Given the description of an element on the screen output the (x, y) to click on. 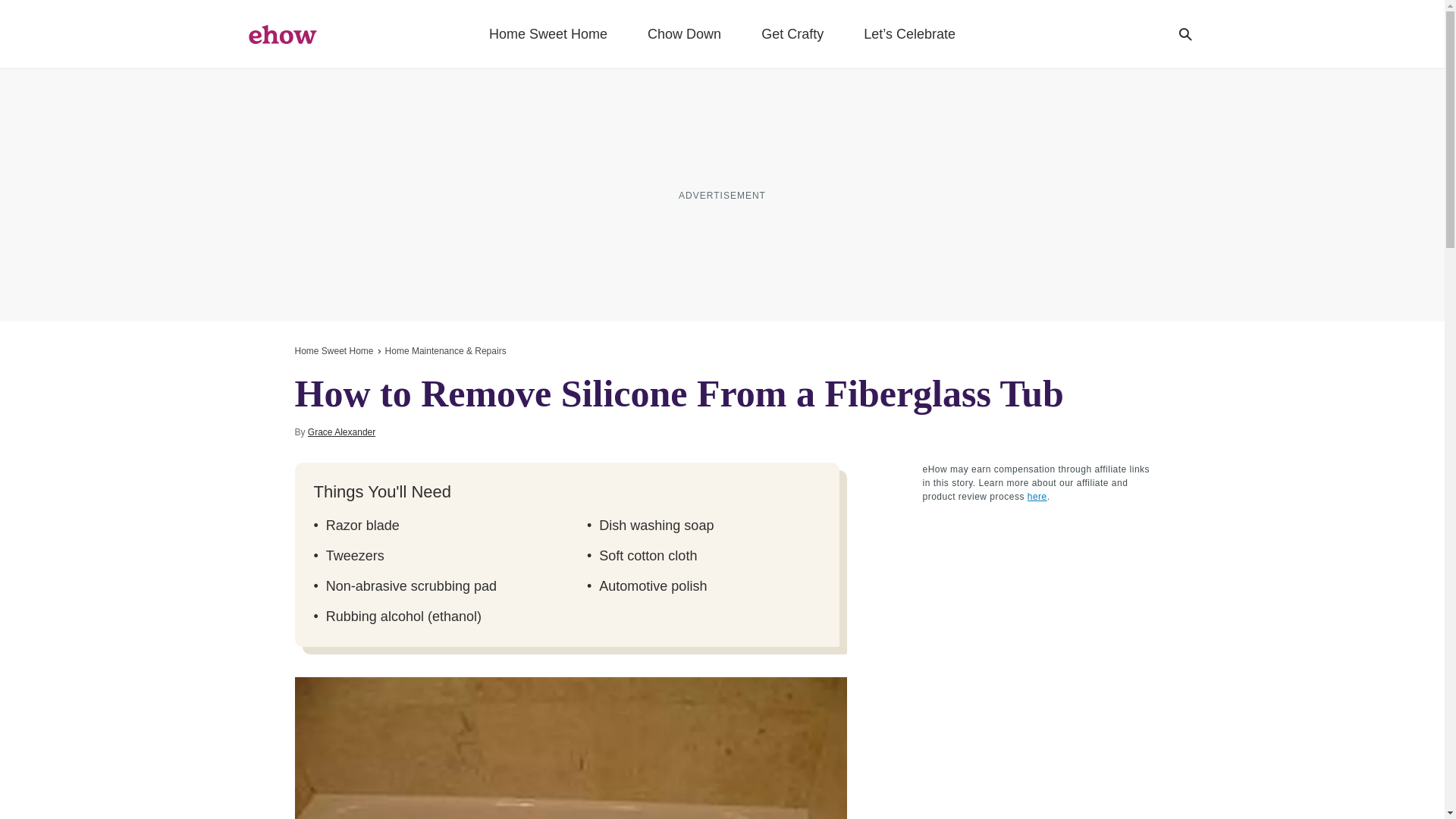
Learn more about our affiliate and product review process (1036, 496)
